Given the description of an element on the screen output the (x, y) to click on. 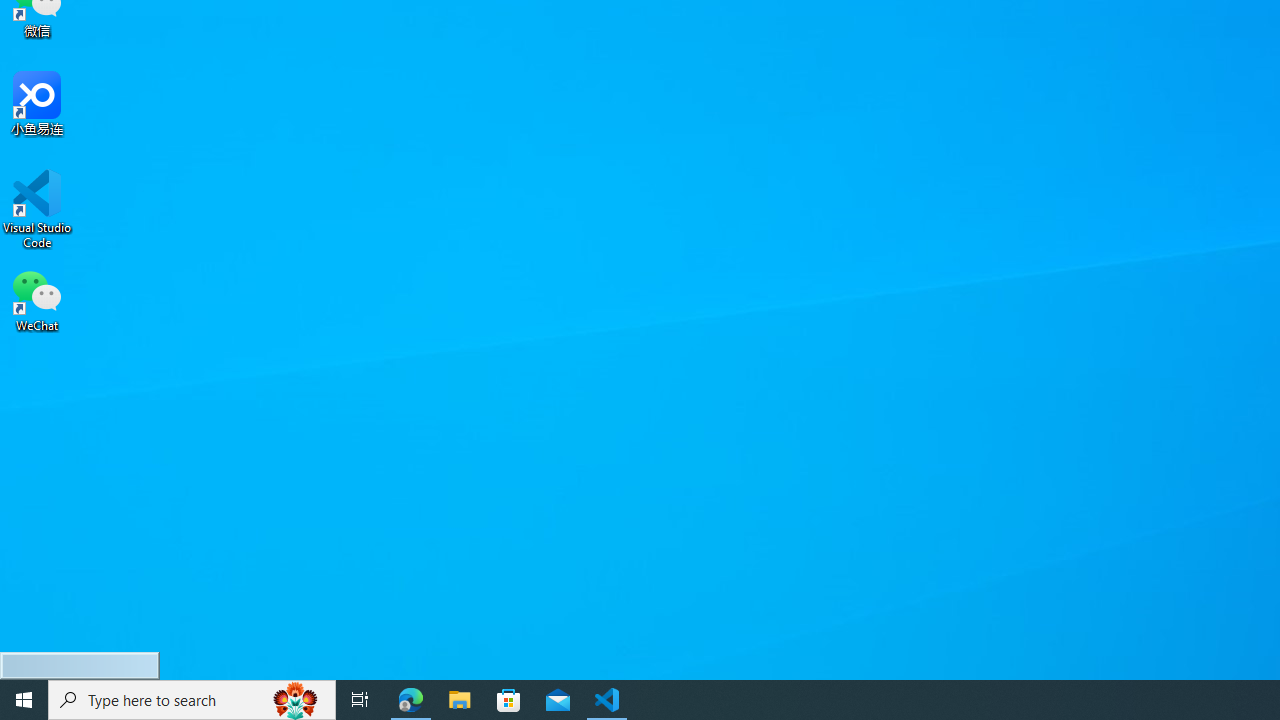
Visual Studio Code (37, 209)
Settings - 1 running window (656, 699)
Microsoft Edge - 1 running window (411, 699)
WeChat (37, 299)
